Given the description of an element on the screen output the (x, y) to click on. 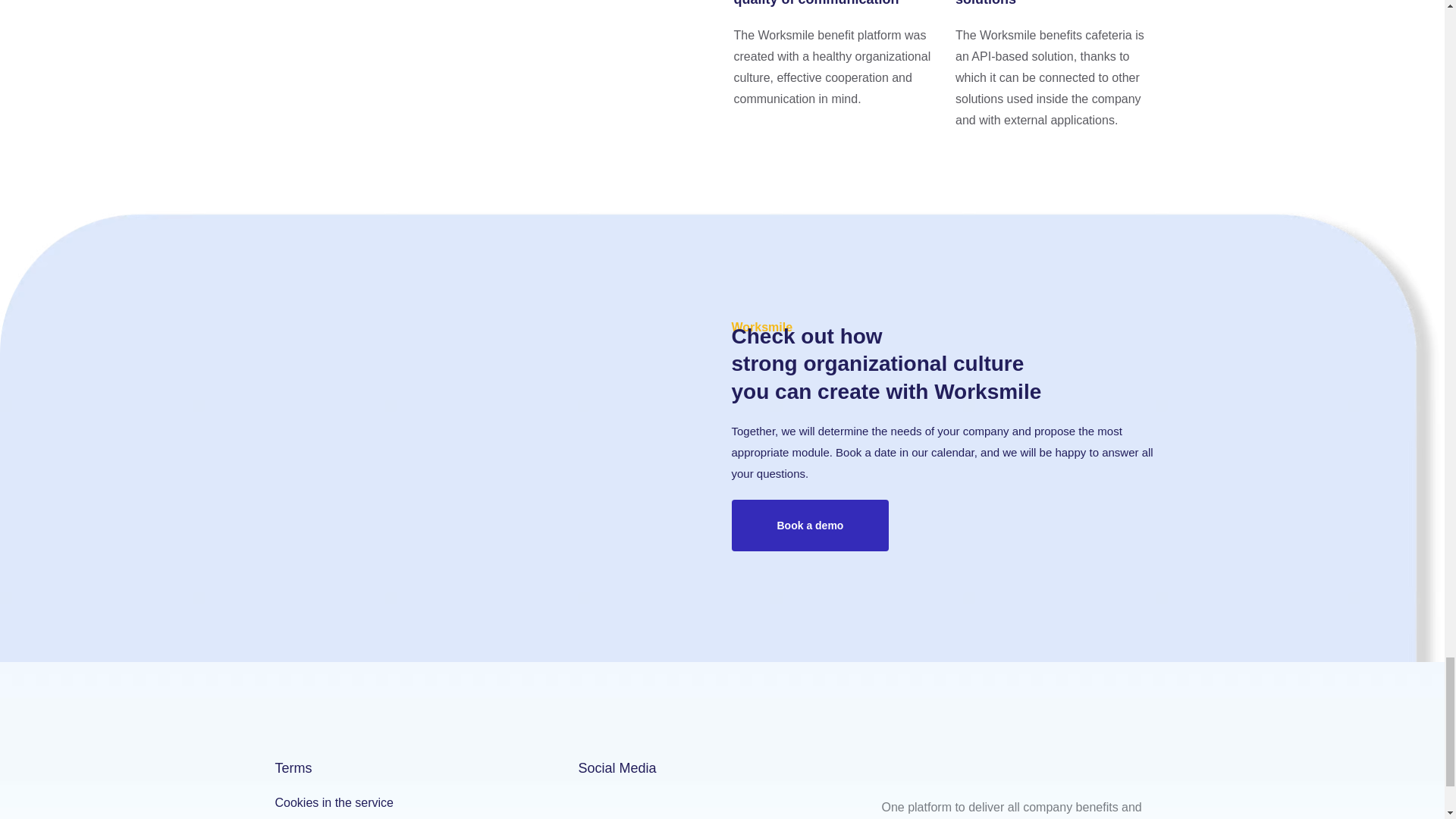
Book a demo (809, 525)
Terms and conditions (418, 817)
Cookies in the service (418, 803)
